Given the description of an element on the screen output the (x, y) to click on. 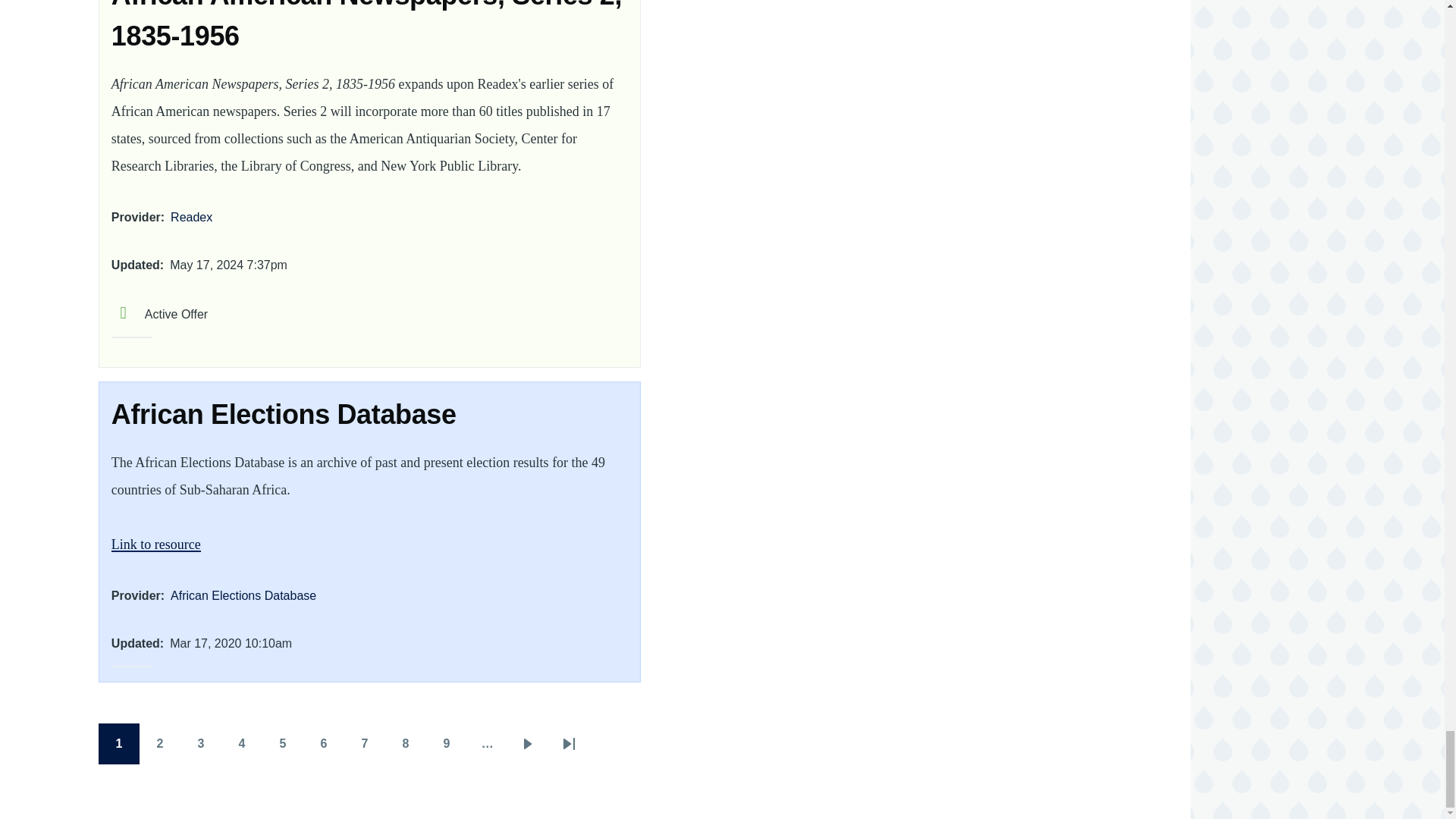
Go to page 7 (364, 743)
Go to page 5 (282, 743)
Go to page 6 (322, 743)
Go to page 9 (446, 743)
Go to page 3 (200, 743)
Go to page 2 (159, 743)
Active Offer (160, 314)
Go to page 4 (241, 743)
Go to page 8 (405, 743)
